Given the description of an element on the screen output the (x, y) to click on. 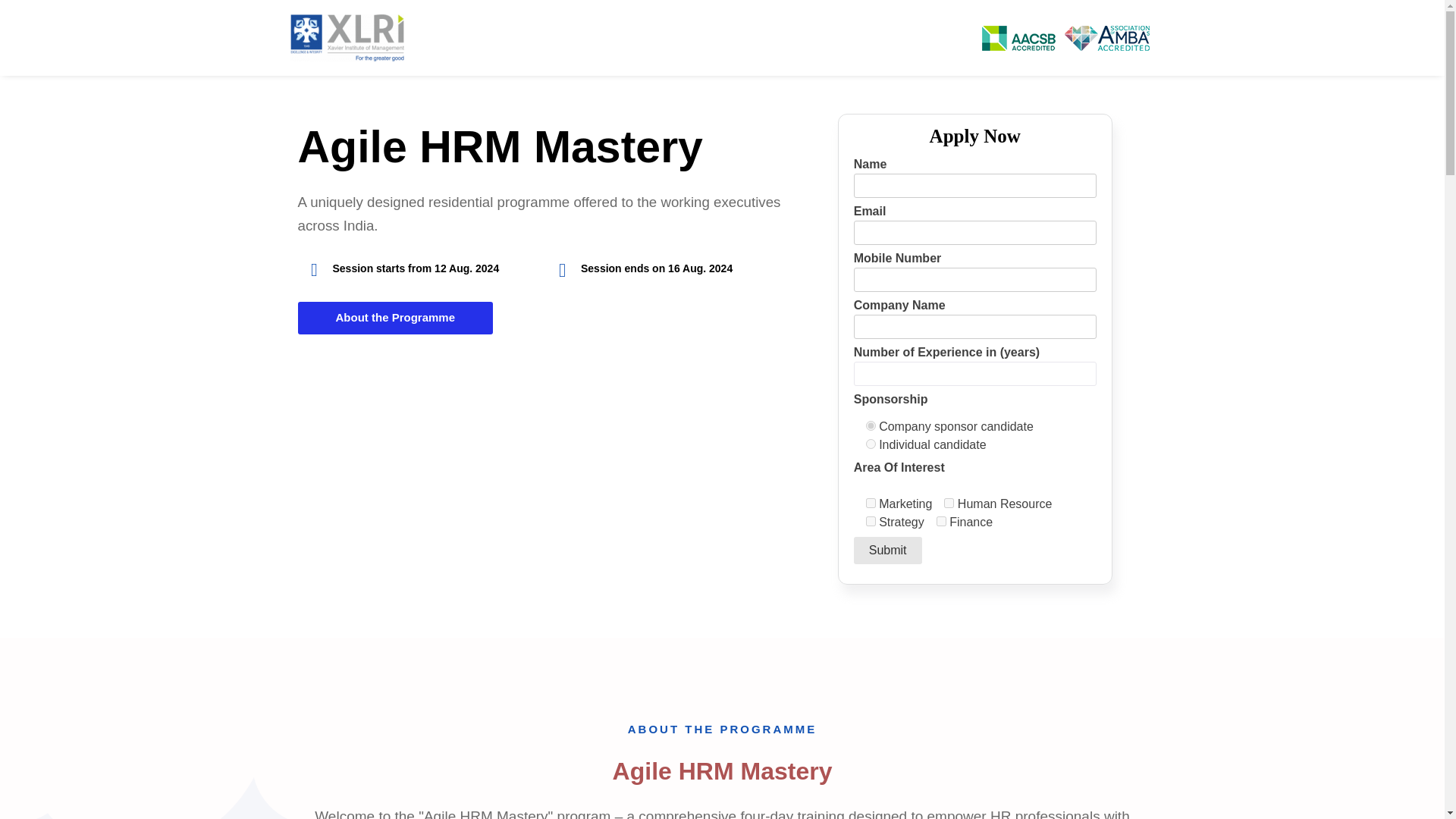
Marketing (871, 501)
Submit (887, 550)
logo (346, 37)
Individual candidate (871, 442)
Finance (941, 520)
About the Programme (395, 318)
Submit (887, 550)
Company sponsor candidate (871, 424)
Human Resource (948, 501)
Strategy (871, 520)
